Given the description of an element on the screen output the (x, y) to click on. 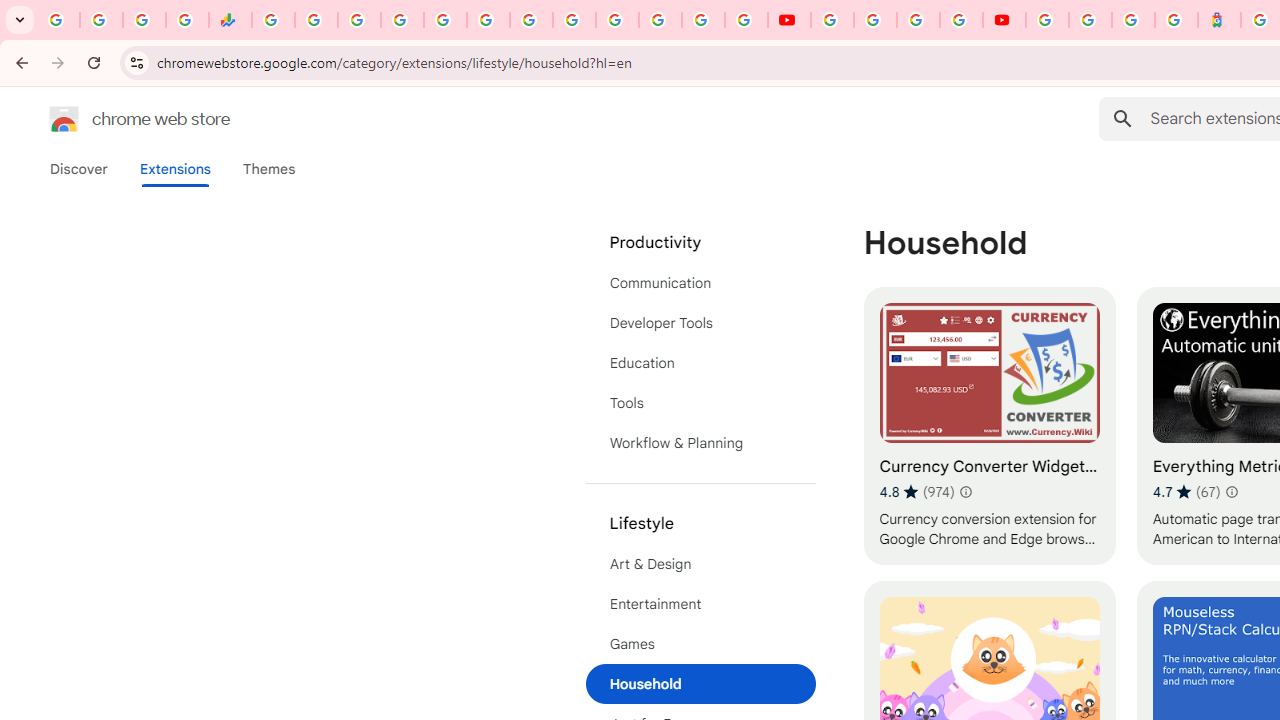
YouTube (832, 20)
YouTube (789, 20)
Content Creator Programs & Opportunities - YouTube Creators (1004, 20)
Android TV Policies and Guidelines - Transparency Center (530, 20)
Workflow & Planning (700, 442)
Average rating 4.8 out of 5 stars. 974 ratings. (916, 491)
Google Account Help (875, 20)
Extensions (174, 169)
Education (700, 362)
Art & Design (700, 563)
